Given the description of an element on the screen output the (x, y) to click on. 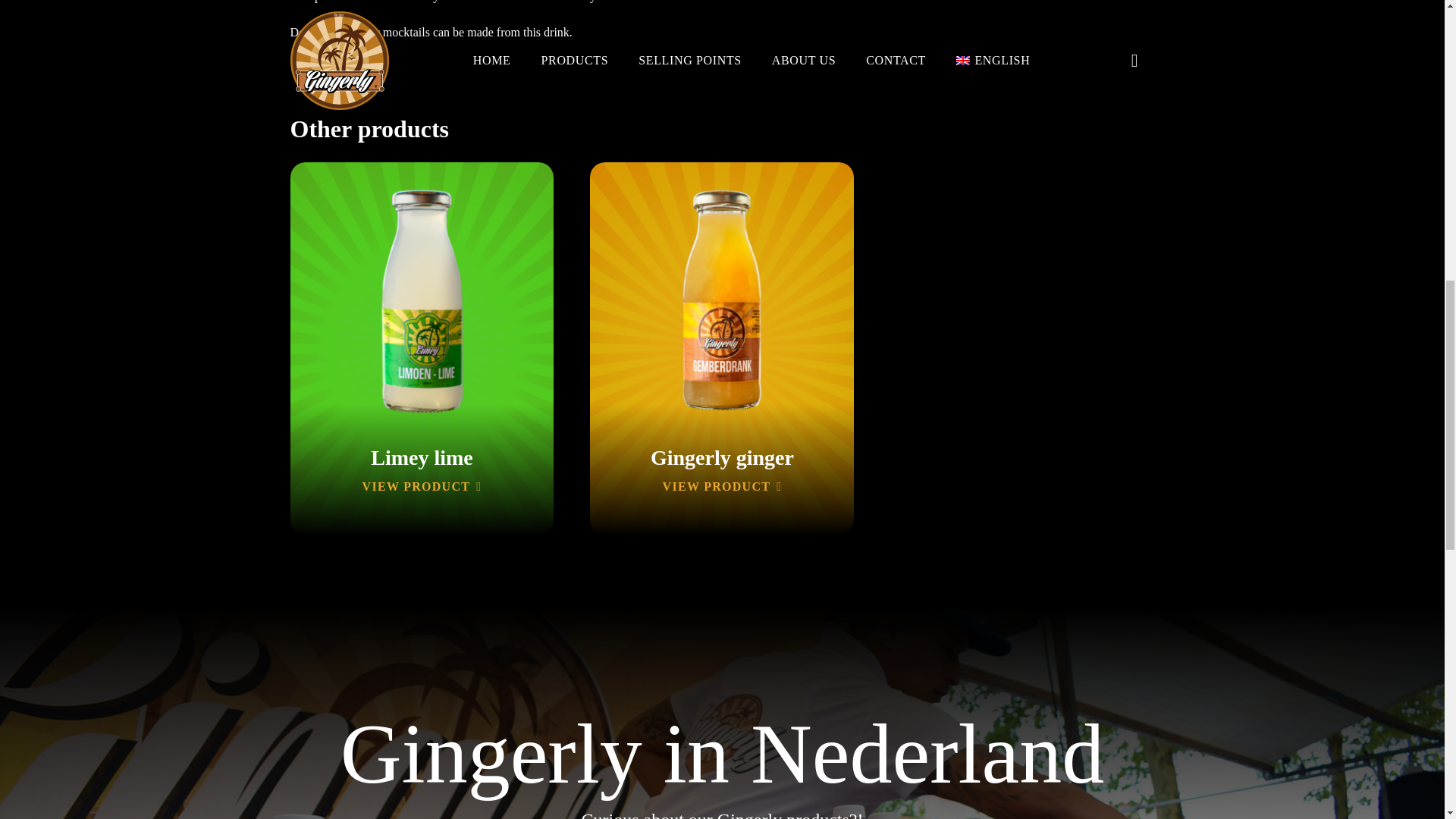
VIEW PRODUCT (421, 486)
VIEW PRODUCT (722, 486)
Back to top (1413, 30)
Limey lime (422, 457)
Gingerly ginger (721, 457)
